Given the description of an element on the screen output the (x, y) to click on. 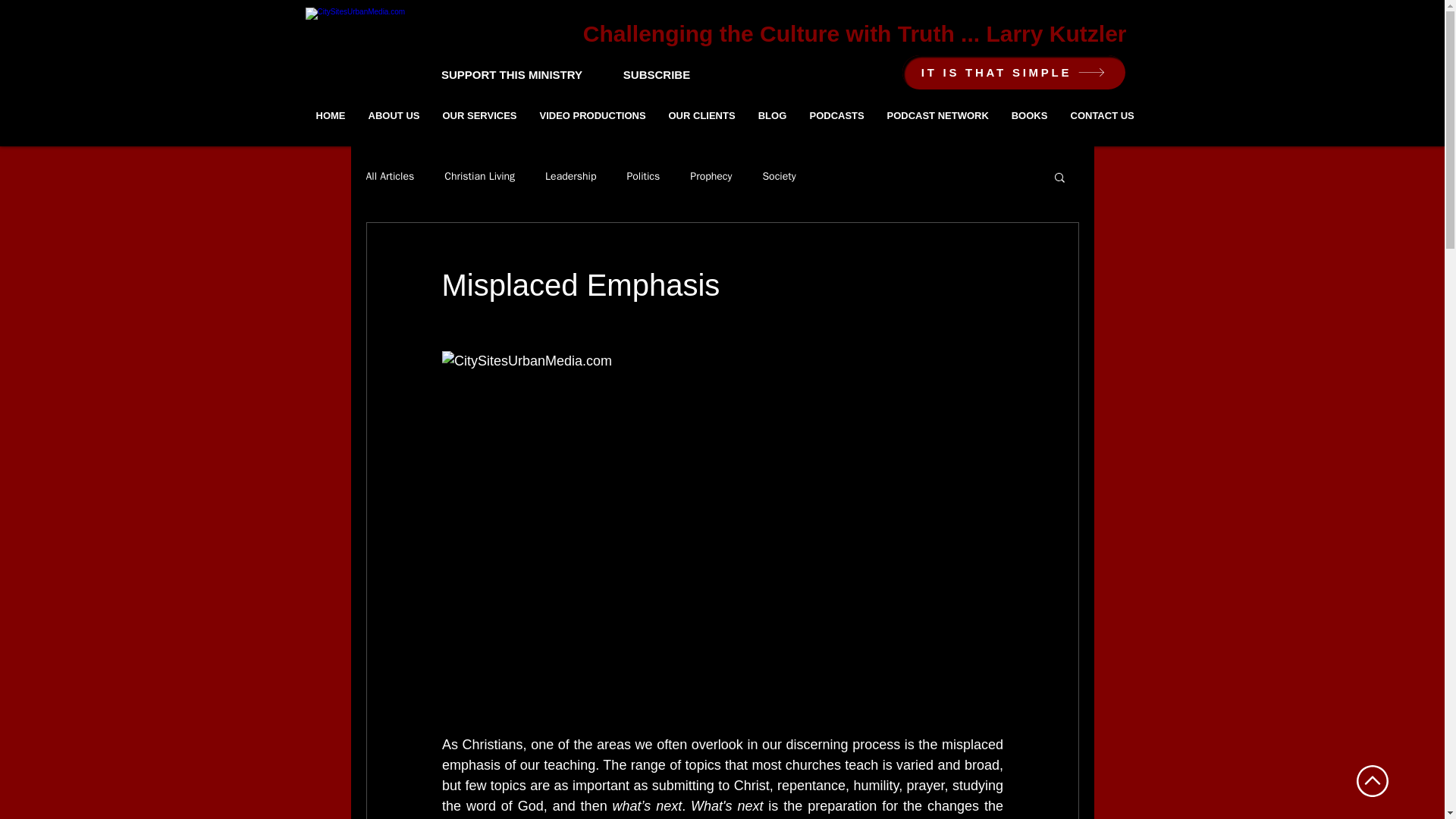
Politics (642, 176)
SUBSCRIBE (656, 73)
IT IS THAT SIMPLE (1013, 72)
All Articles (389, 176)
Society (777, 176)
ABOUT US (393, 115)
PODCASTS (836, 115)
OUR SERVICES (478, 115)
BOOKS (1028, 115)
Leadership (569, 176)
Christian Living (479, 176)
 the Culture with Truth ... Larry Kutzler (919, 33)
HOME (330, 115)
VIDEO PRODUCTIONS (591, 115)
SUPPORT THIS MINISTRY (511, 73)
